Given the description of an element on the screen output the (x, y) to click on. 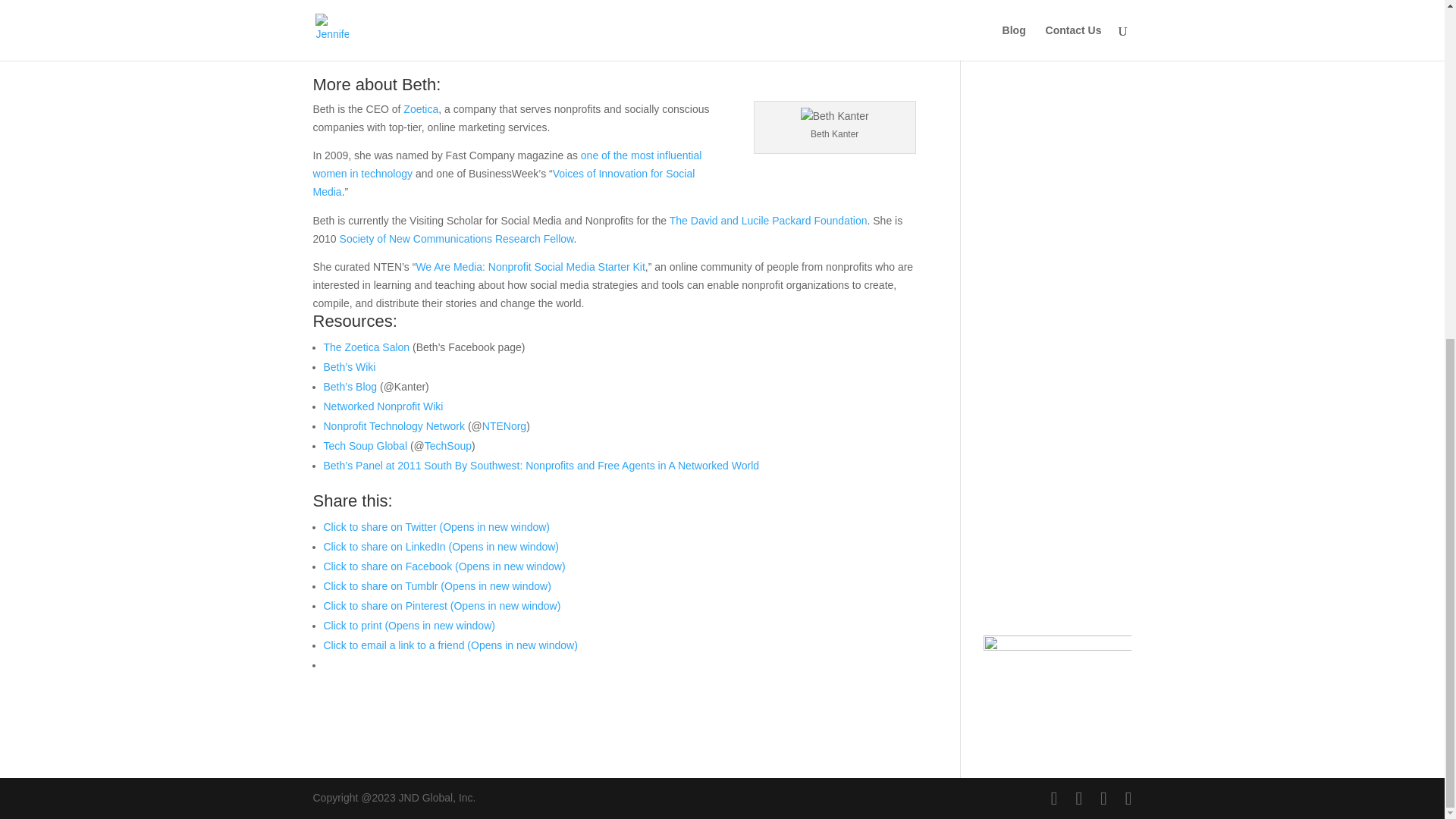
Beth Kanter (834, 116)
Click to email a link to a friend (449, 645)
We Are Media: Nonprofit Social Media Starter Kit (529, 266)
Instagram (1103, 192)
one of the most influential women in technology (507, 164)
blog (901, 27)
iTunes (332, 2)
Facebook (1103, 67)
email (345, 45)
Click to share on LinkedIn (441, 546)
